Given the description of an element on the screen output the (x, y) to click on. 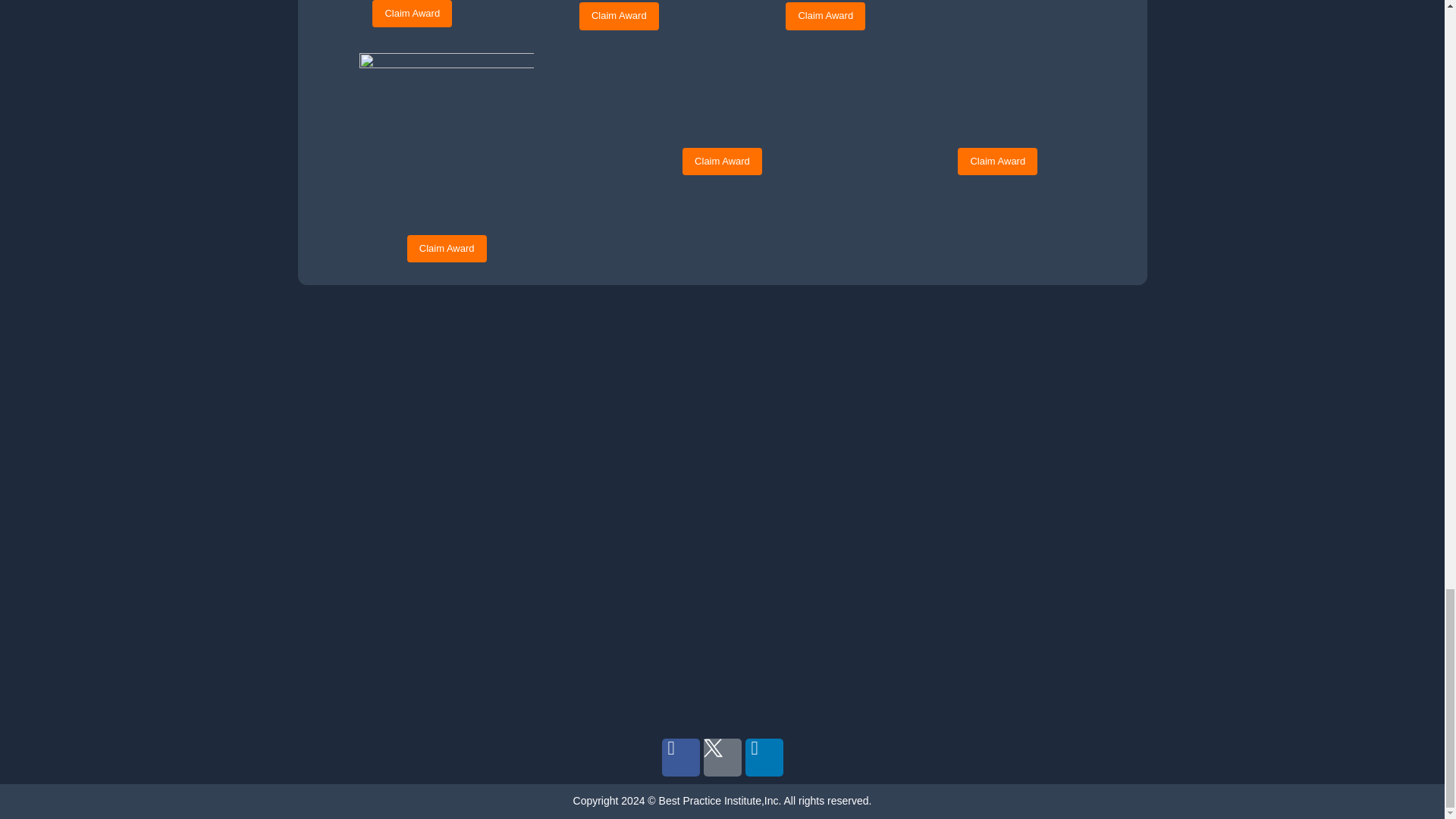
Claim Award (619, 15)
Claim Award (825, 15)
Claim Award (411, 13)
